Given the description of an element on the screen output the (x, y) to click on. 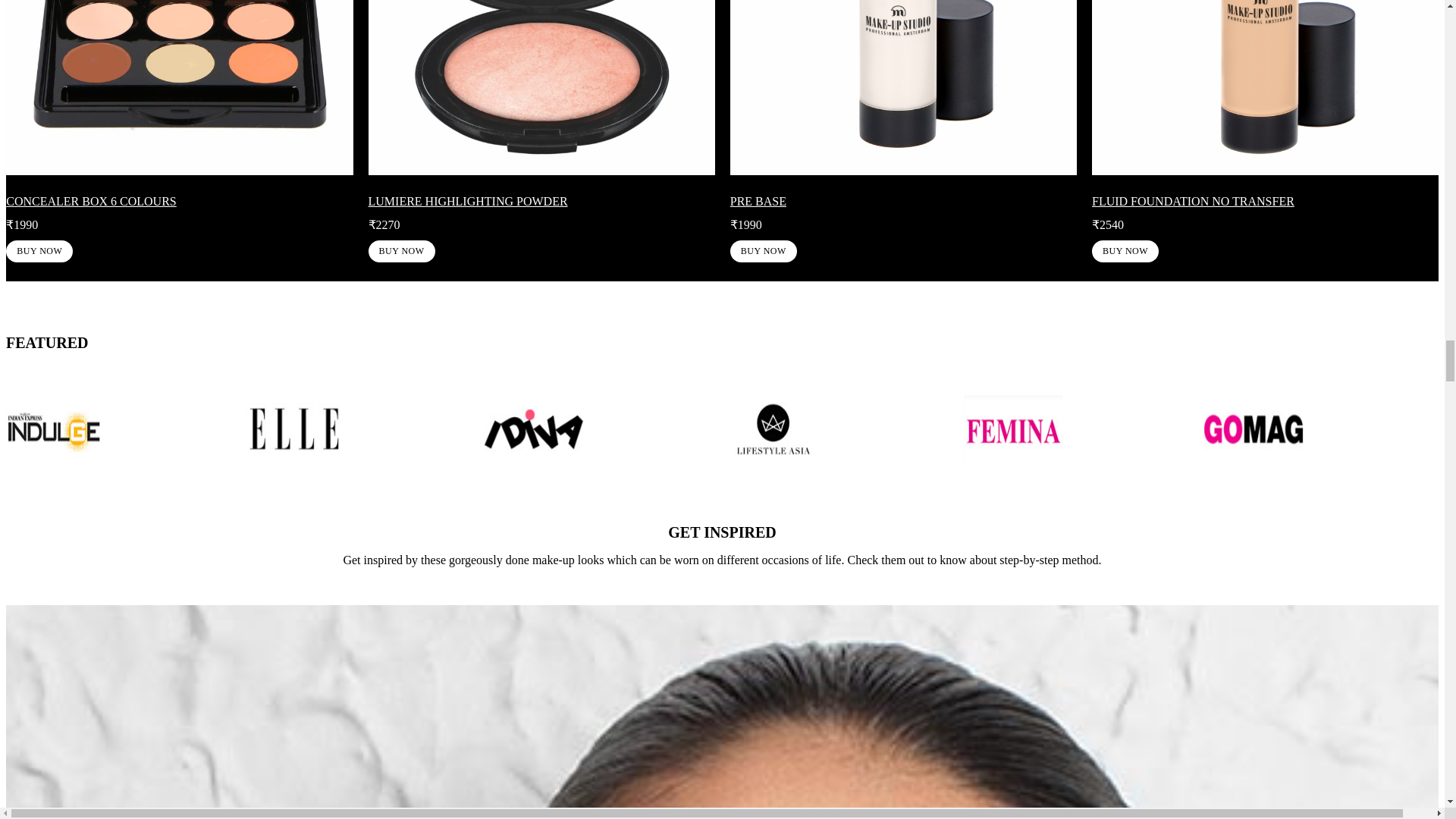
Fluid Foundation No Transfer (1125, 251)
Lumiere Highlighting Powder (401, 251)
Pre Base (763, 251)
Concealer Box 6 Colours (38, 251)
